Given the description of an element on the screen output the (x, y) to click on. 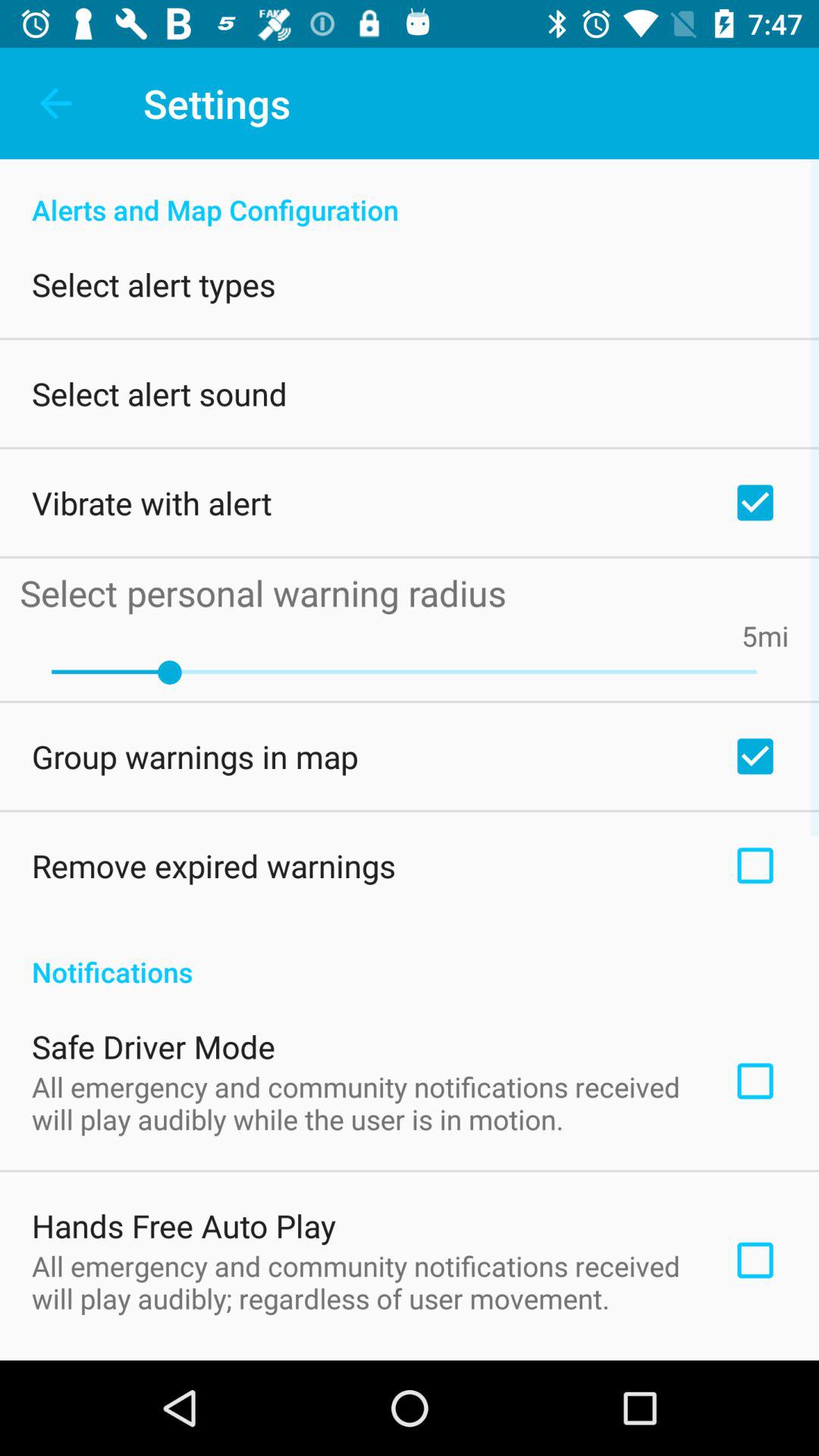
open the icon to the right of 5 app (772, 635)
